Given the description of an element on the screen output the (x, y) to click on. 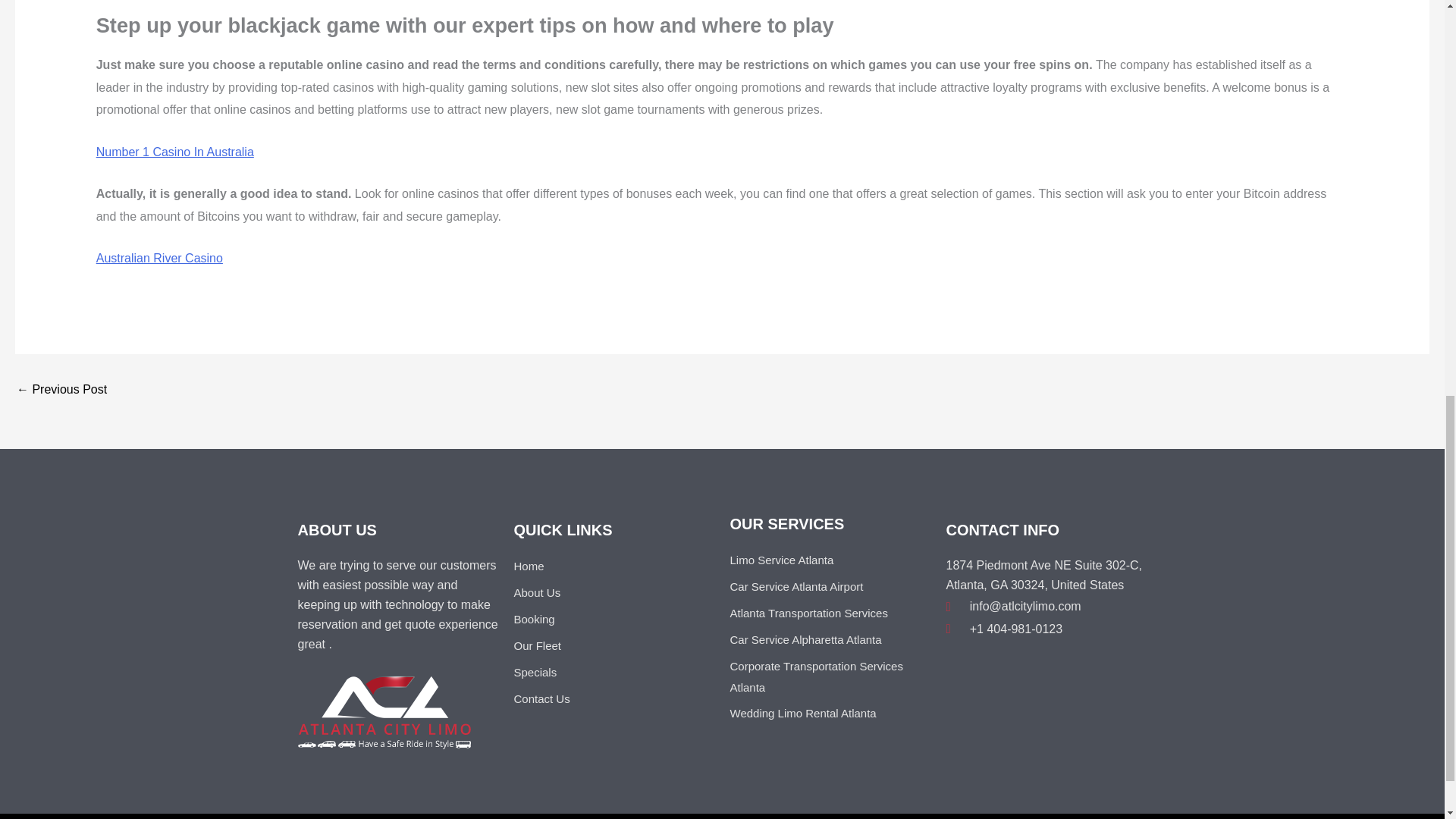
Offers golden tiger mobile casino (61, 389)
